Given the description of an element on the screen output the (x, y) to click on. 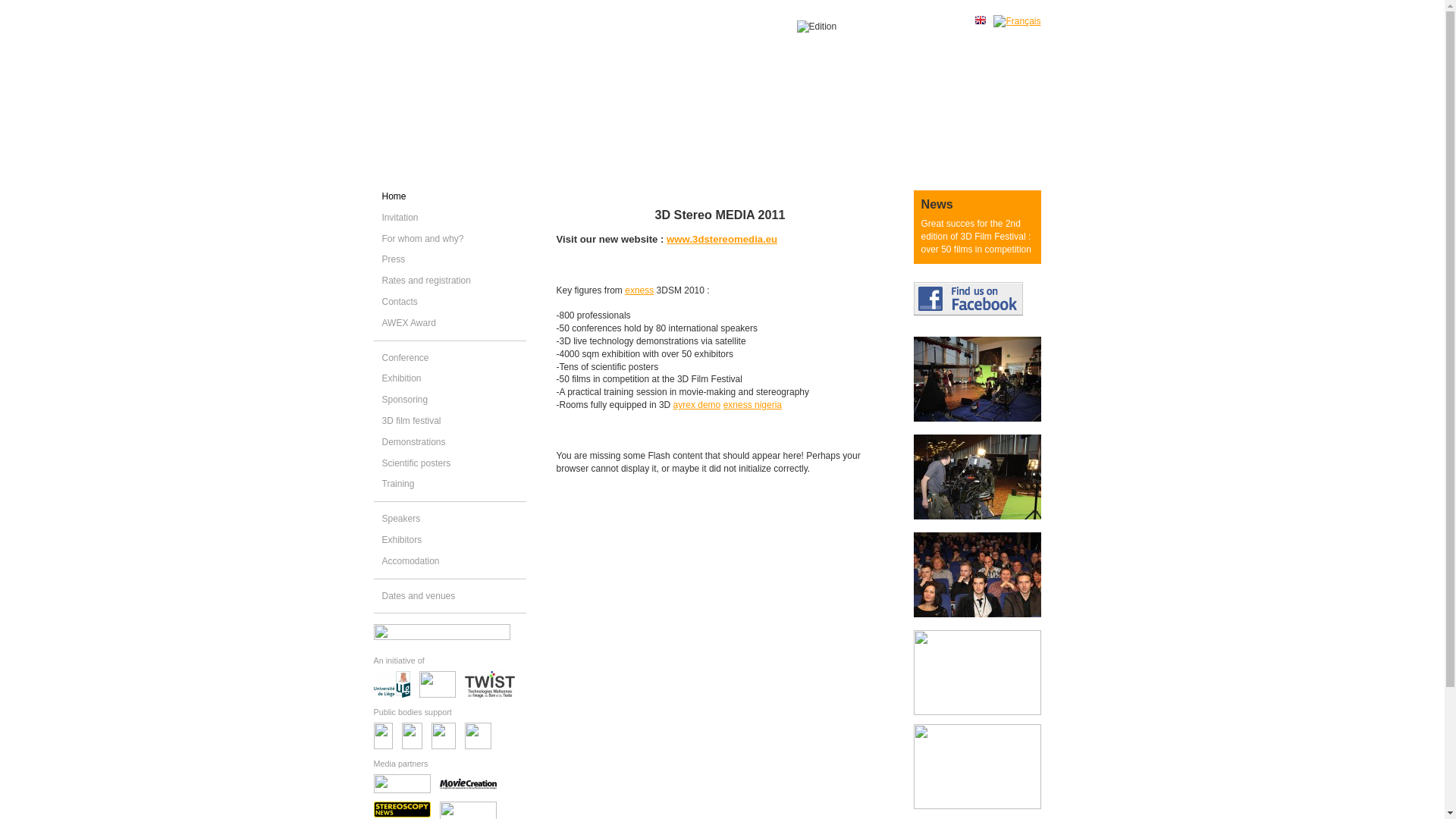
Demonstrations Element type: text (413, 441)
3D Stereo Media Element type: hover (984, 525)
ayrex demo Element type: text (697, 404)
Sponsoring Element type: text (405, 399)
Accomodation Element type: text (410, 560)
Press Element type: text (393, 259)
3D Stereo Media Element type: hover (984, 805)
English Element type: hover (980, 19)
Conference Element type: text (405, 357)
AWEX Award Element type: text (409, 322)
exness Element type: text (638, 290)
Dates and venues Element type: text (418, 595)
3D Stereo Media Element type: hover (984, 427)
3D Stereo Media Element type: hover (984, 766)
3D Stereo Media Element type: hover (984, 476)
Rates and registration Element type: text (426, 280)
3D Stereo Media Element type: hover (984, 672)
Scientific posters Element type: text (416, 463)
3D Stereo Media Element type: hover (984, 574)
3D film festival Element type: text (411, 420)
Invitation Element type: text (400, 217)
Speakers Element type: text (401, 518)
Training Element type: text (398, 483)
3D Stereo Media Element type: hover (984, 378)
3D Stereo Media Element type: hover (984, 623)
exness nigeria Element type: text (752, 404)
Home Element type: hover (701, 97)
Exhibition Element type: text (401, 378)
Home Element type: text (394, 196)
For whom and why? Element type: text (423, 238)
Exhibitors Element type: text (402, 539)
Contacts Element type: text (399, 301)
3D Stereo Media Element type: hover (984, 711)
www.3dstereomedia.eu Element type: text (721, 238)
